Given the description of an element on the screen output the (x, y) to click on. 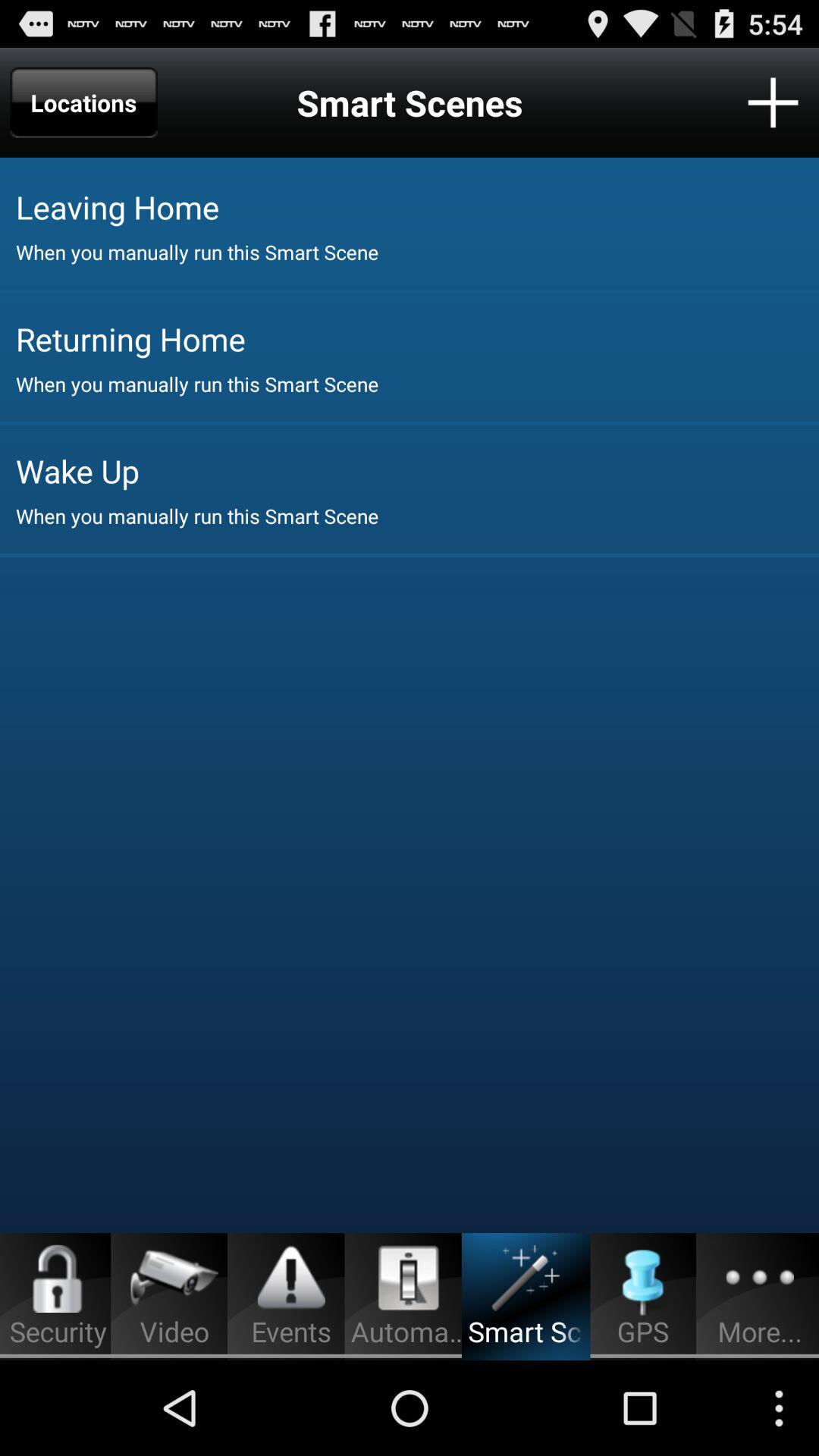
turn off the icon below the when you manually item (417, 338)
